Given the description of an element on the screen output the (x, y) to click on. 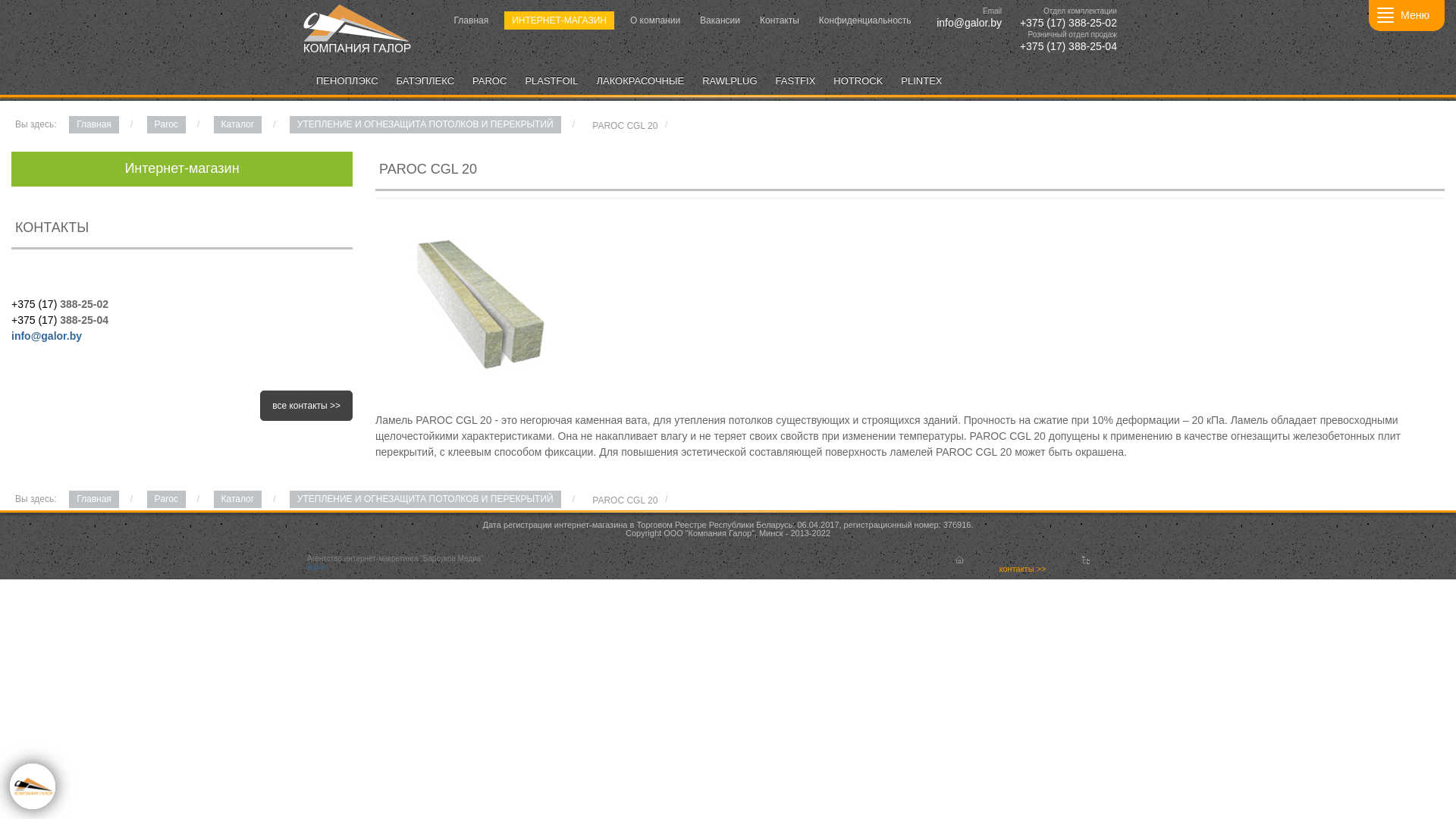
 info@galor.by Element type: text (967, 22)
HOTROCK Element type: text (858, 81)
PLASTFOIL Element type: text (551, 81)
PLINTEX Element type: text (921, 81)
a.p.n Element type: text (316, 570)
 +375 (17) 388-25-04 Element type: text (1066, 46)
Paroc Element type: text (166, 499)
RAWLPLUG Element type: text (729, 81)
PAROC Element type: text (489, 81)
info@galor.by Element type: text (46, 335)
FASTFIX Element type: text (795, 81)
Paroc Element type: text (166, 124)
 +375 (17) 388-25-02 Element type: text (1066, 22)
